Given the description of an element on the screen output the (x, y) to click on. 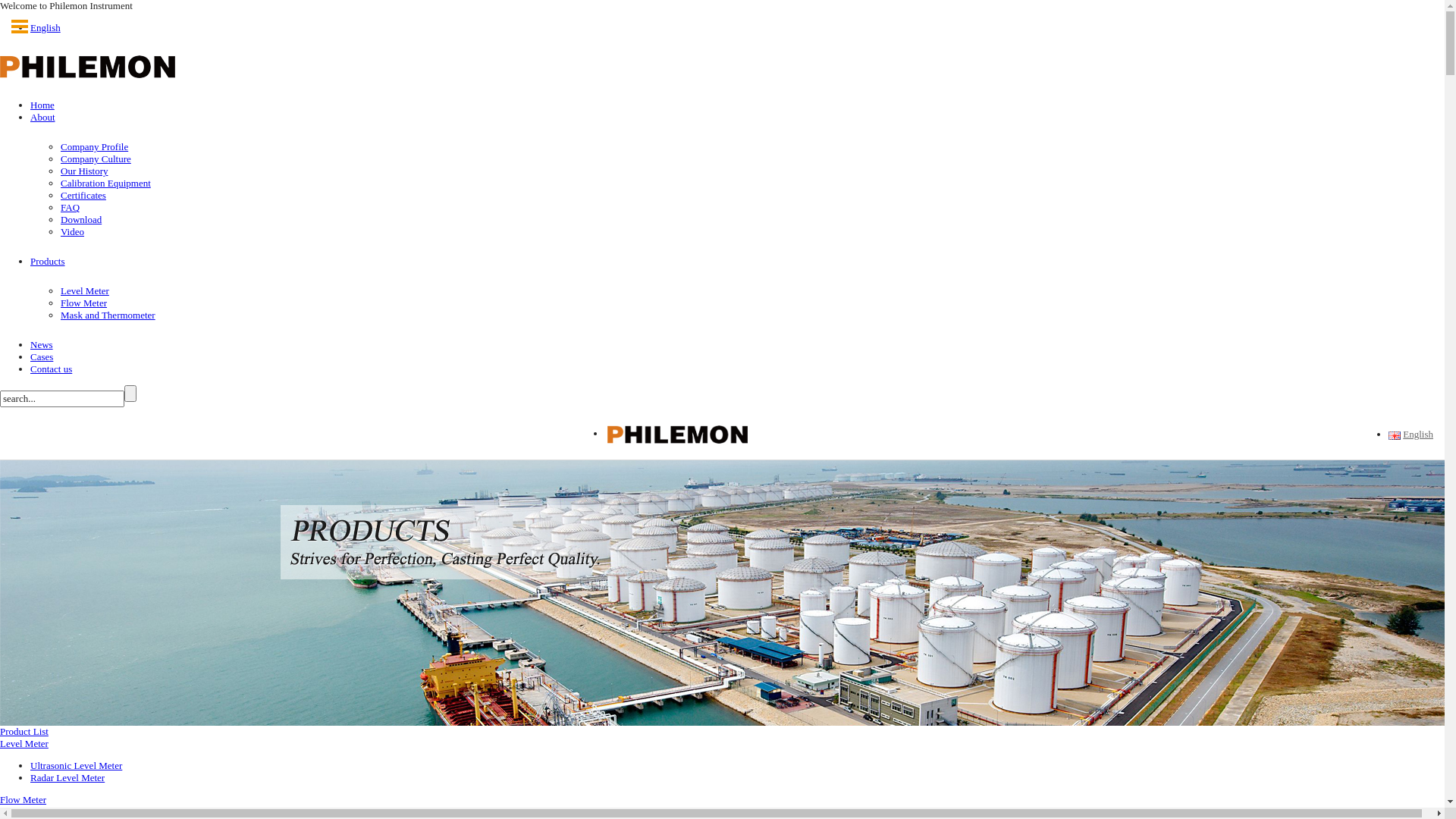
English Element type: text (1416, 434)
Calibration Equipment Element type: text (105, 182)
Product List Element type: text (24, 731)
Contact us Element type: text (51, 368)
Radar Level Meter Element type: text (67, 777)
News Element type: text (41, 344)
English Element type: text (45, 27)
Home Element type: text (42, 104)
FAQ Element type: text (69, 207)
Level Meter Element type: text (24, 743)
Mask and Thermometer Element type: text (107, 314)
English Element type: hover (1394, 434)
Our History Element type: text (83, 170)
Cases Element type: text (41, 356)
Video Element type: text (72, 231)
Philemon Instrument Element type: hover (677, 433)
Ultrasonic Level Meter Element type: text (76, 765)
Certificates Element type: text (83, 194)
Download Element type: text (80, 219)
search... Element type: hover (62, 398)
Company Profile Element type: text (94, 146)
Philemon Instrument Element type: hover (87, 65)
Products Element type: text (47, 260)
Flow Meter Element type: text (83, 302)
Flow Meter Element type: text (23, 799)
Level Meter Element type: text (84, 290)
About Element type: text (42, 116)
Company Culture Element type: text (95, 158)
